Given the description of an element on the screen output the (x, y) to click on. 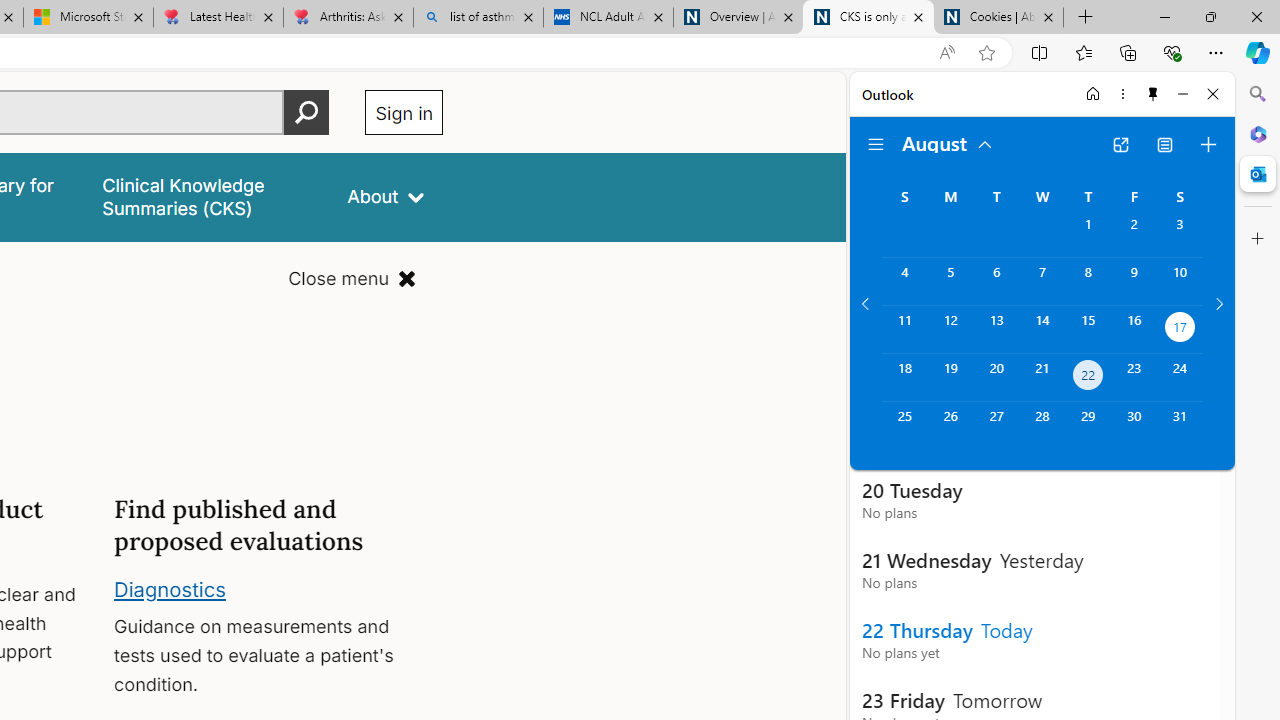
Create event (1208, 144)
Saturday, August 24, 2024.  (1180, 377)
CKS is only available in the UK | NICE (868, 17)
Tuesday, August 6, 2024.  (996, 281)
list of asthma inhalers uk - Search (477, 17)
About (386, 196)
